Given the description of an element on the screen output the (x, y) to click on. 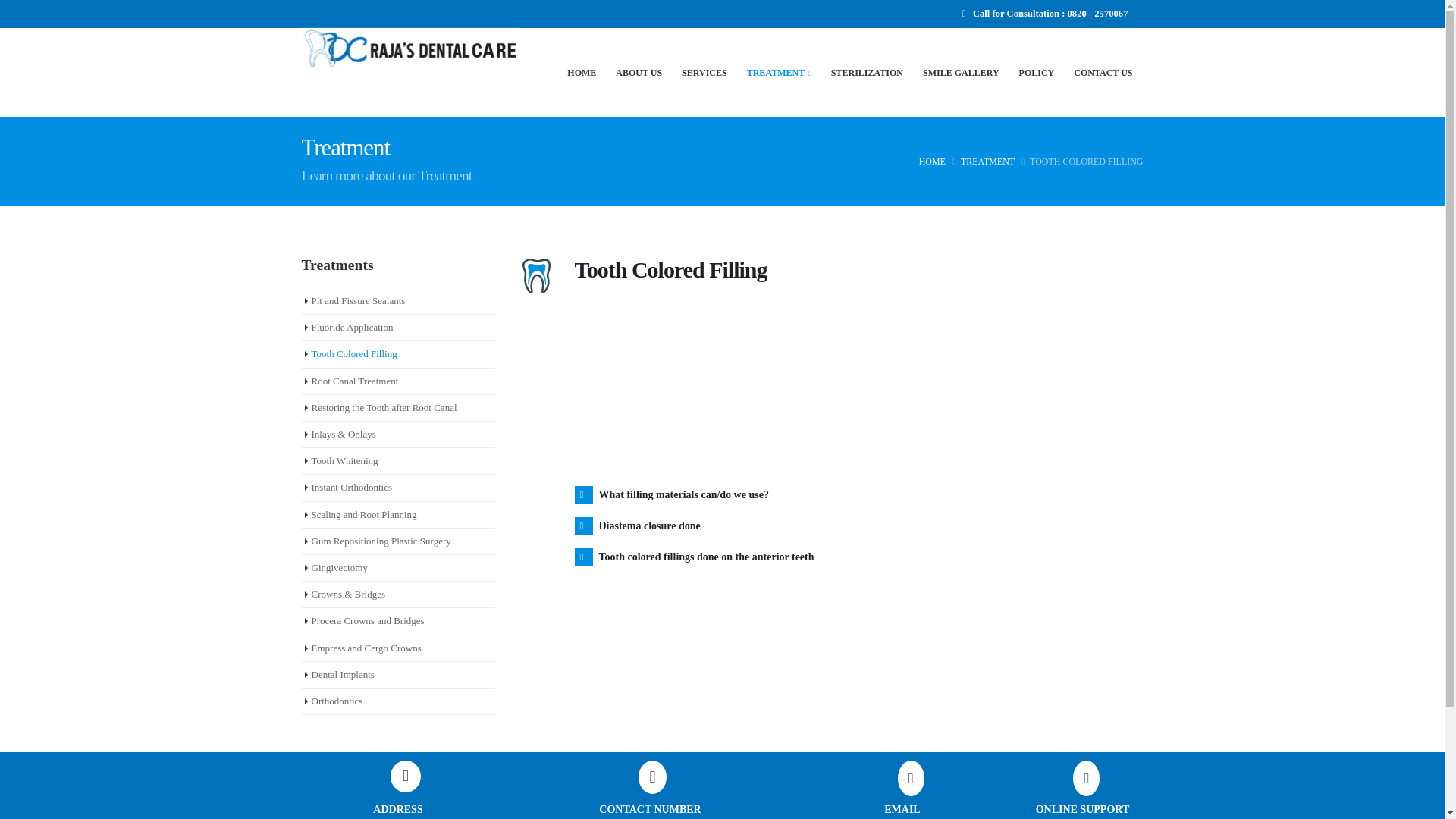
CONTACT US (1102, 72)
SMILE GALLERY (961, 72)
Tooth Colored Filling (353, 353)
TREATMENT (987, 161)
POLICY (1037, 72)
STERILIZATION (867, 72)
ABOUT US (639, 72)
TREATMENT (779, 72)
Fluoride Application (352, 326)
Root Canal Treatment (354, 380)
Raja's Dental Clinic -  (411, 48)
Pit and Fissure Sealants (357, 300)
Instant Orthodontics (351, 487)
Scaling and Root Planning (363, 514)
Gum Repositioning Plastic Surgery (380, 541)
